Given the description of an element on the screen output the (x, y) to click on. 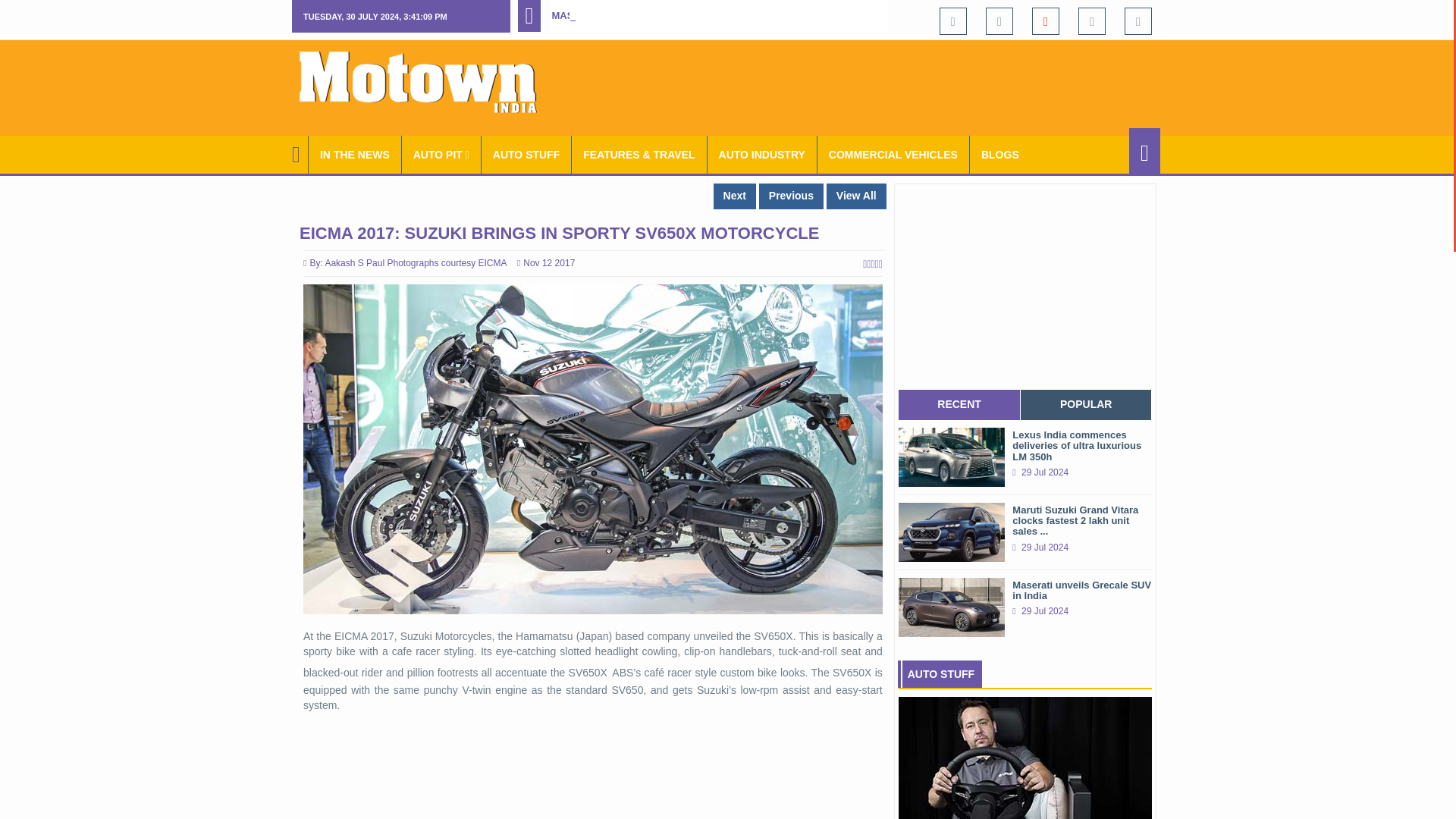
Motown India on Twitter (999, 21)
MASERATI UNVEILS GRECALE SUV IN INDIA (656, 15)
Advertisement (884, 85)
Previous (791, 196)
Motown India on Instagram (1091, 21)
BLOGS (999, 154)
AUTO INDUSTRY by Motown India (761, 154)
IN THE NEWS (354, 154)
Motown India on YouTube (1045, 21)
Maserati unveils Grecale SUV in India (656, 15)
View All (856, 196)
COMMERCIAL VEHICLES (892, 154)
View All Auto-Pit - Motown India (441, 154)
AUTO STUFF (526, 154)
